Given the description of an element on the screen output the (x, y) to click on. 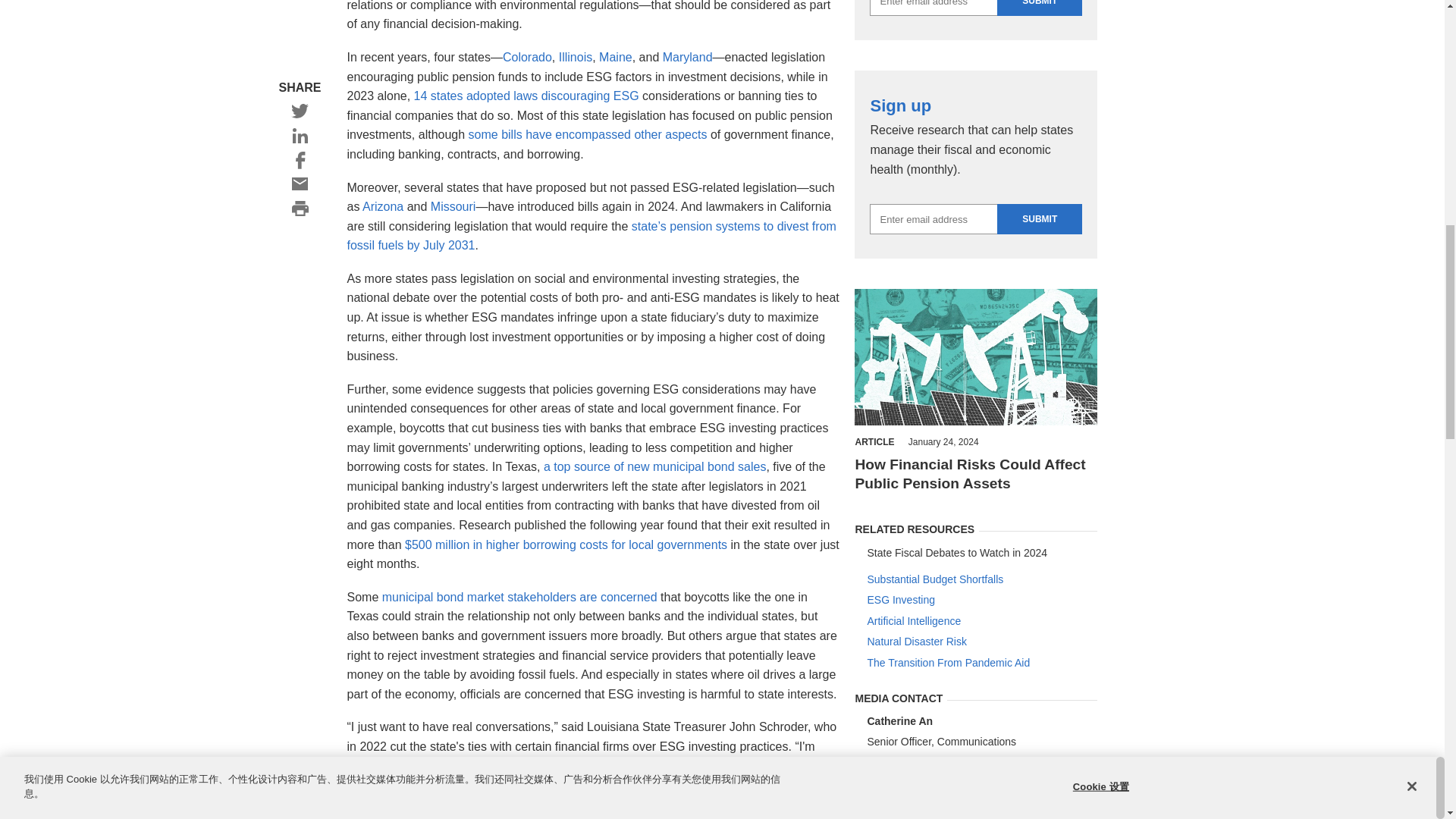
Substantial Budget Shortfalls (981, 580)
Submit (1039, 7)
The Transition From Pandemic Aid (981, 663)
Submit (1039, 218)
ESG Investing (981, 600)
Natural Disaster Risk (981, 642)
Artificial Intelligence (981, 621)
